Given the description of an element on the screen output the (x, y) to click on. 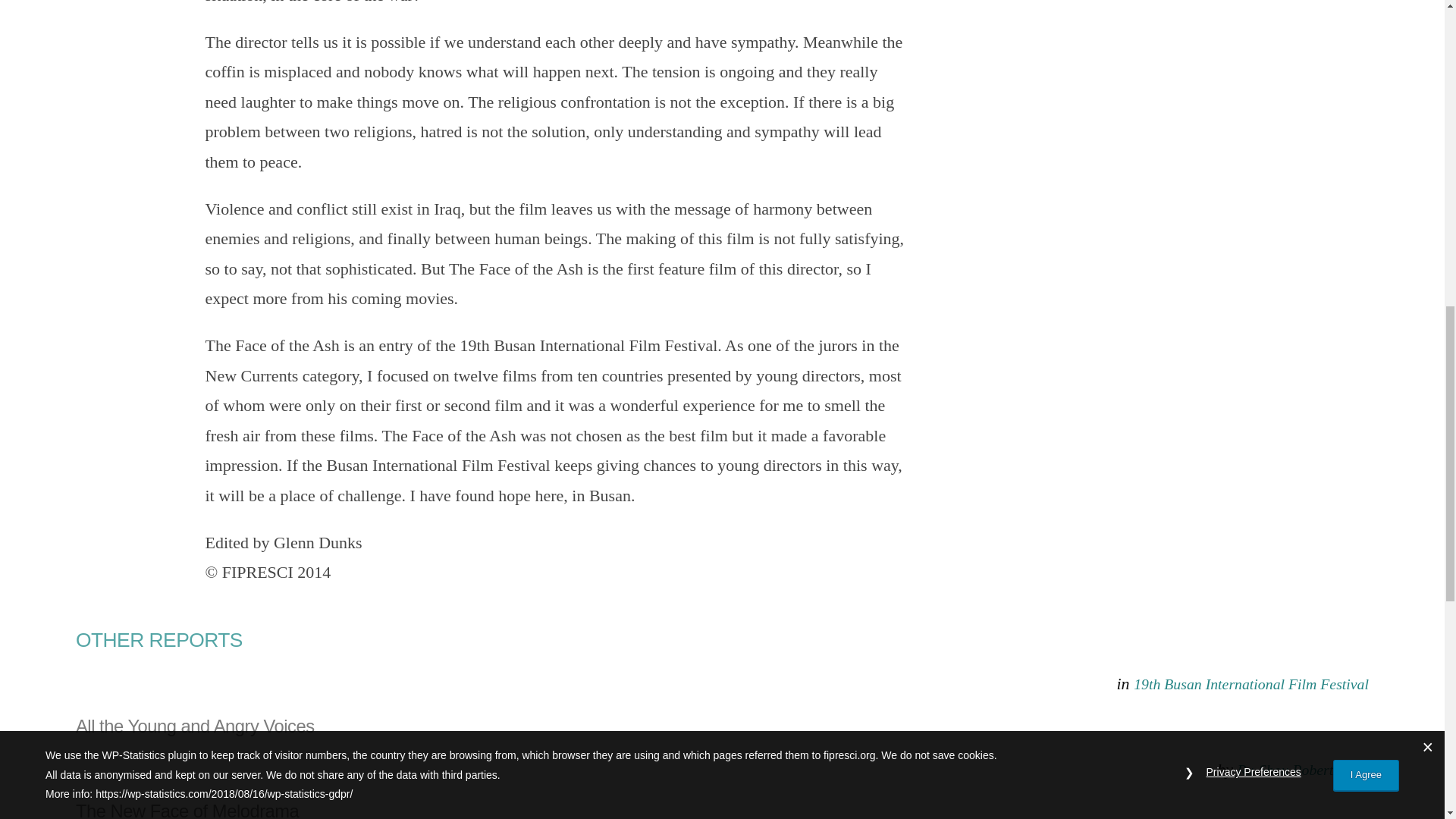
Ru-Shou Robert Chen (1302, 769)
All the Young and Angry Voices (721, 726)
19th Busan International Film Festival (1251, 683)
The New Face of Melodrama (721, 809)
